Given the description of an element on the screen output the (x, y) to click on. 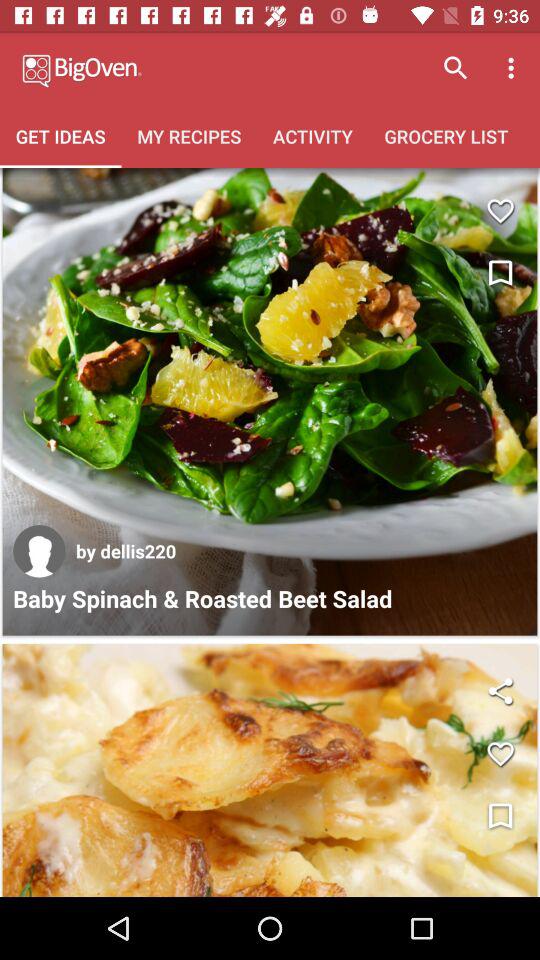
select the favorite (500, 210)
